Given the description of an element on the screen output the (x, y) to click on. 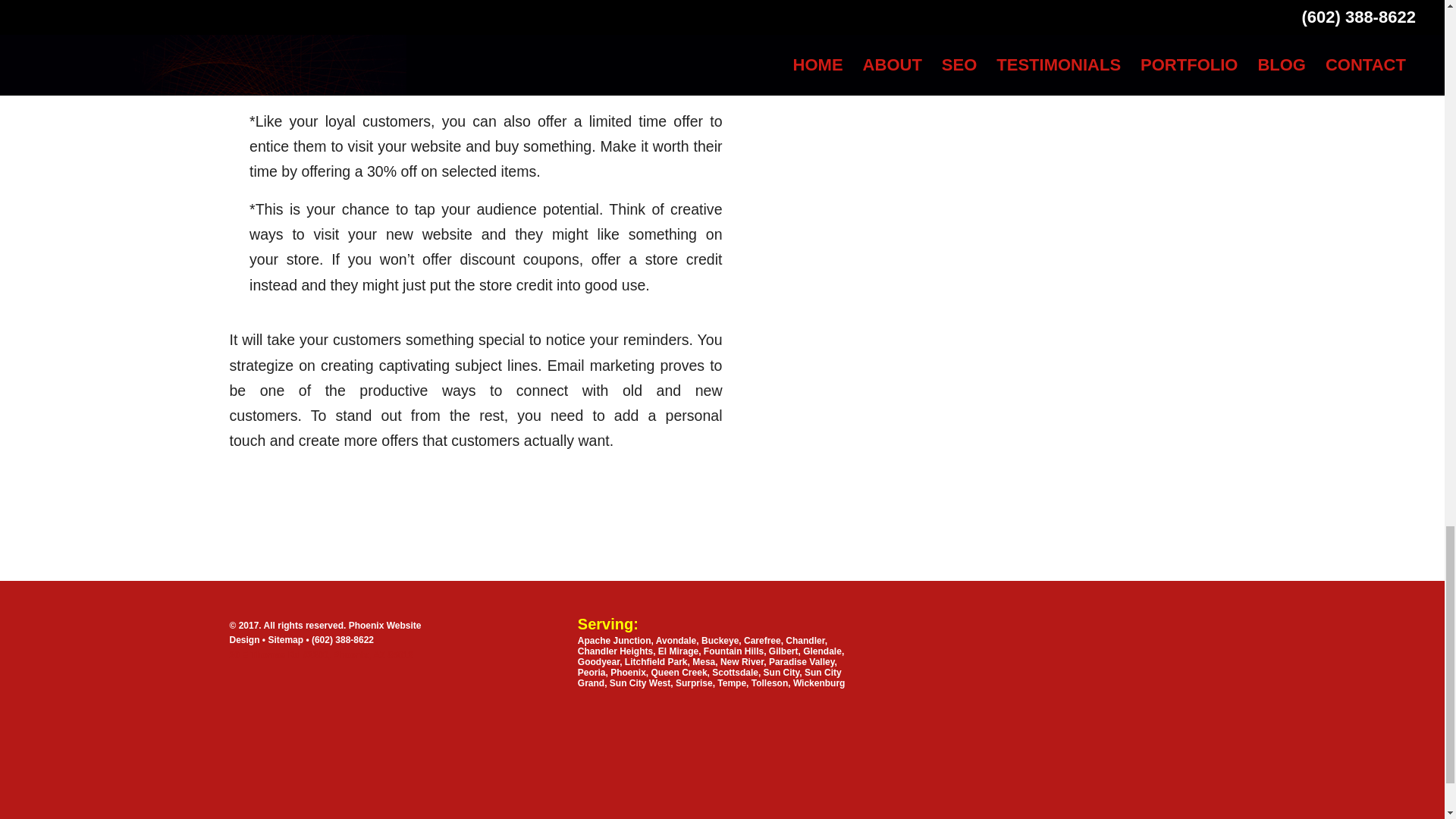
Sitemap  (286, 639)
Phoenix Web Design (312, 677)
Phoenix Website Design (324, 632)
